Given the description of an element on the screen output the (x, y) to click on. 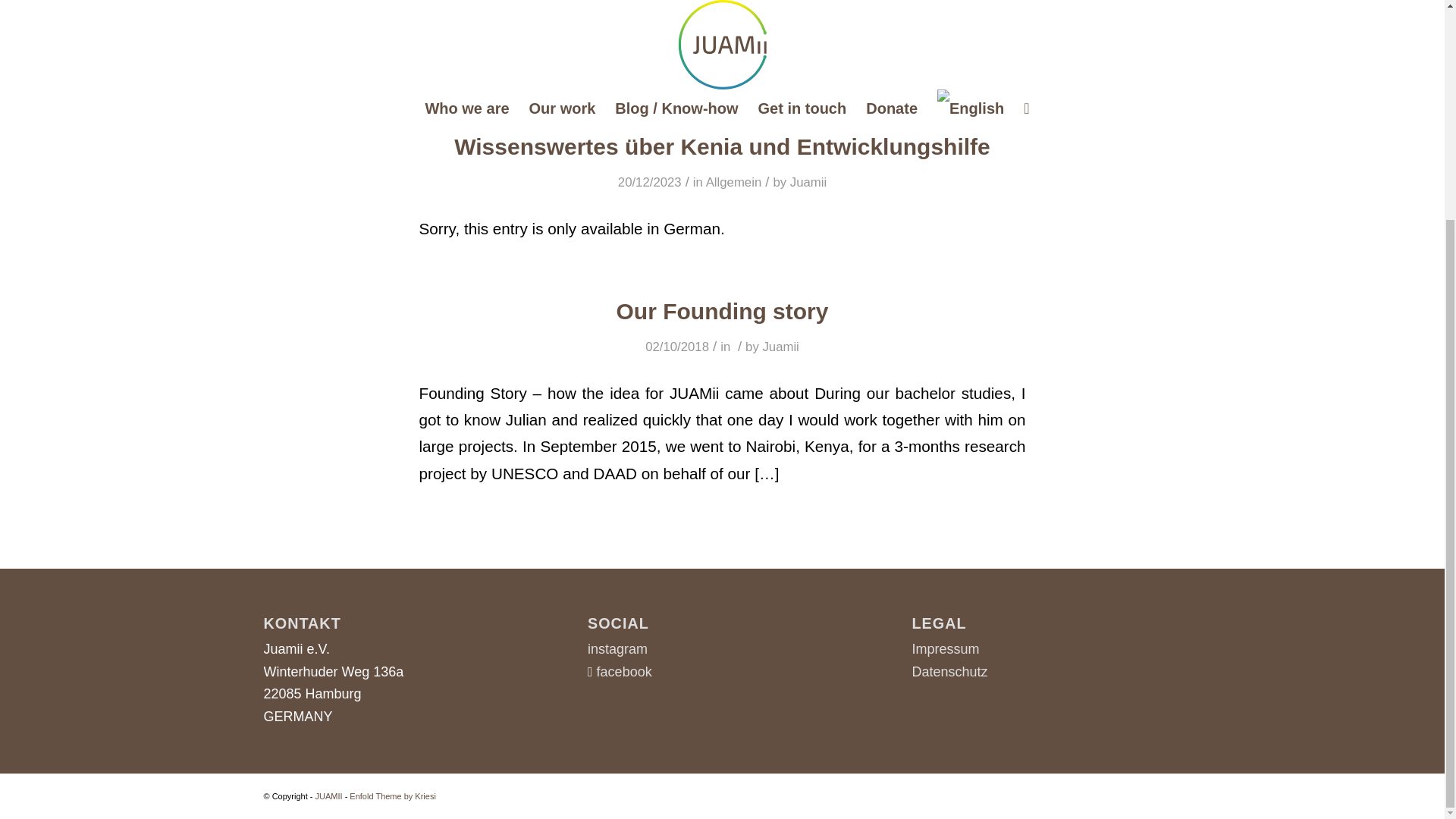
Impressum (945, 648)
Permanent Link: Our Founding story (721, 310)
Our Founding story (721, 310)
Posts by Juamii (808, 182)
Datenschutz (950, 671)
Juamii (808, 182)
facebook (624, 671)
Juamii (779, 346)
Allgemein (733, 182)
instagram (617, 648)
